Given the description of an element on the screen output the (x, y) to click on. 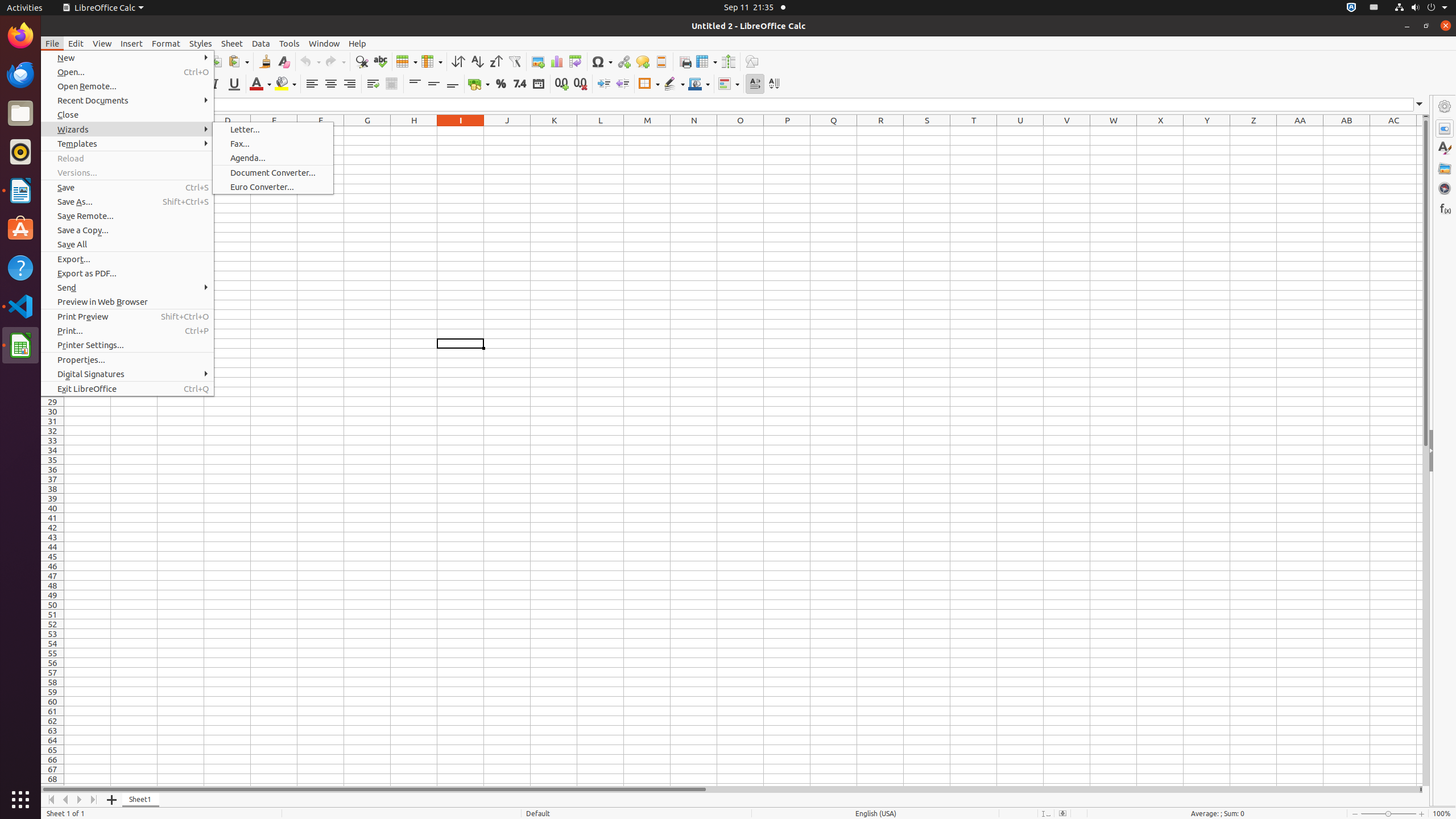
I1 Element type: table-cell (460, 130)
Print... Element type: menu-item (126, 330)
Font Color Element type: push-button (260, 83)
Print Area Element type: push-button (684, 61)
Sort Ascending Element type: push-button (476, 61)
